Given the description of an element on the screen output the (x, y) to click on. 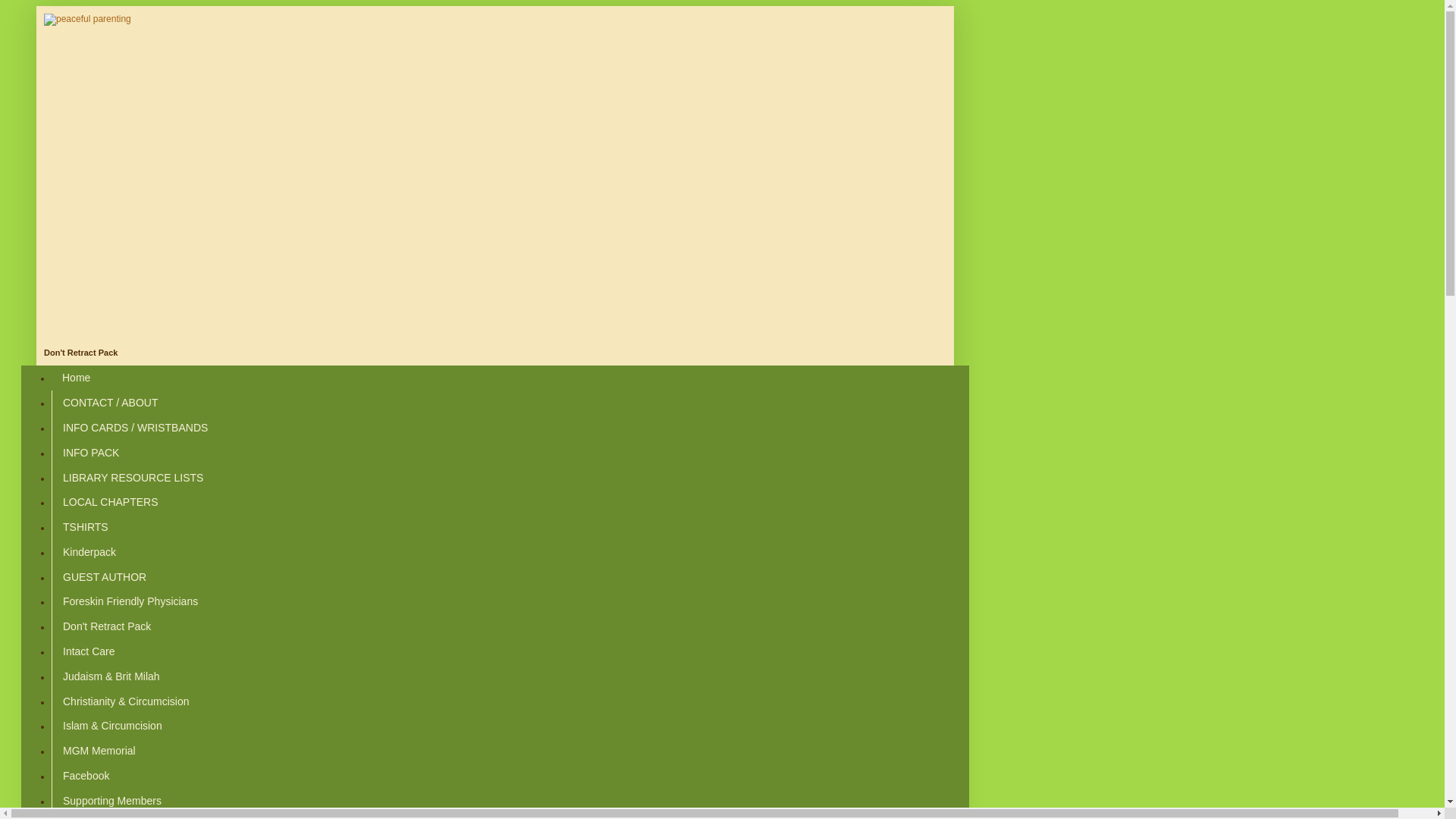
GUEST AUTHOR (103, 576)
TSHIRTS (84, 527)
Facebook (84, 774)
LIBRARY RESOURCE LISTS (132, 477)
INFO PACK (89, 452)
LOCAL CHAPTERS (109, 502)
Home (75, 377)
MGM Memorial (98, 750)
Discussion Groups (106, 816)
Don't Retract Pack (105, 626)
